Given the description of an element on the screen output the (x, y) to click on. 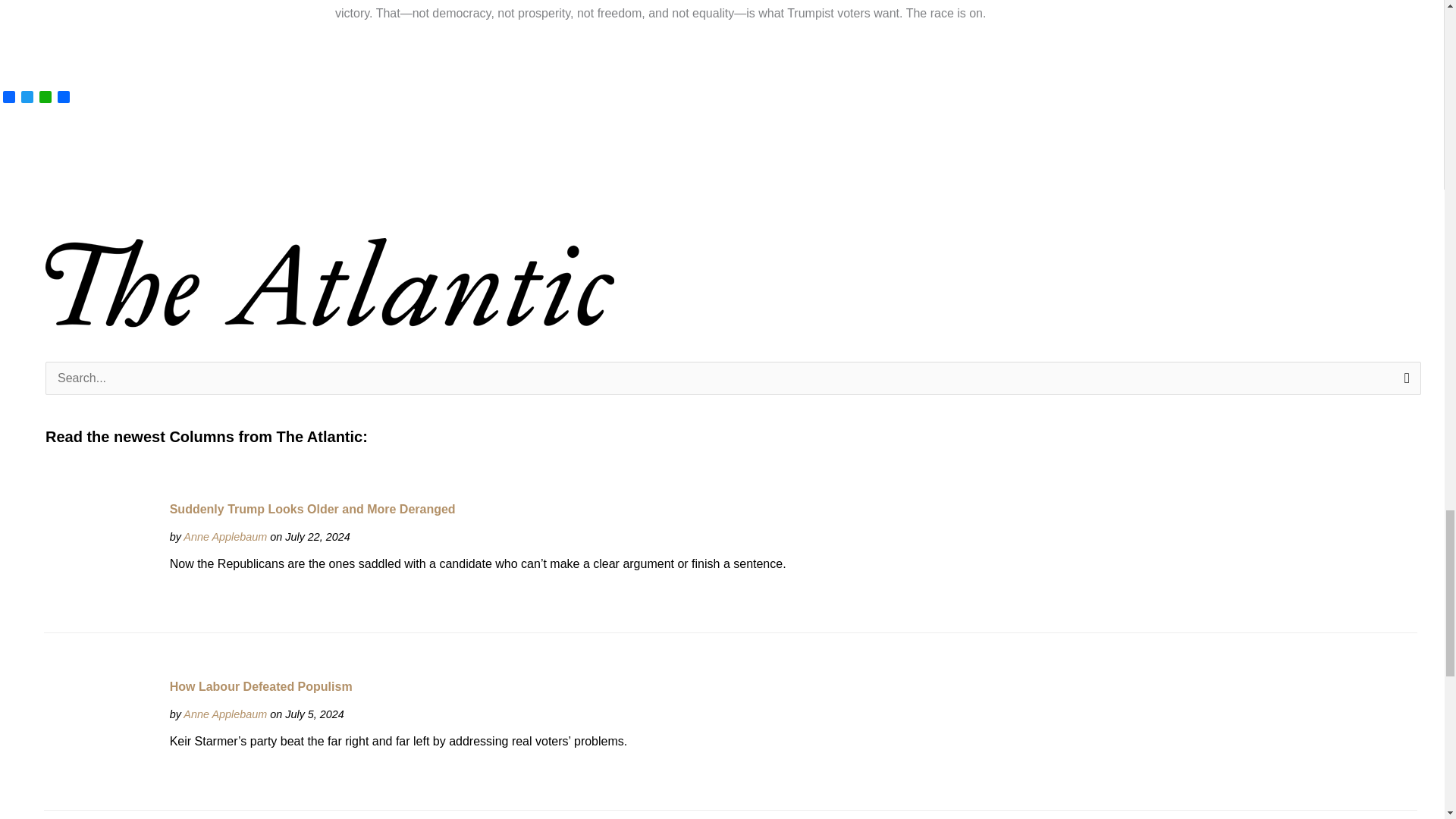
Facebook (8, 97)
www.theatlantic.com (224, 714)
WhatsApp (45, 97)
Search (1404, 382)
How Labour Defeated Populism (100, 734)
Twitter (26, 97)
Suddenly Trump Looks Older and More Deranged (100, 556)
www.theatlantic.com (224, 536)
Search (1404, 382)
